Given the description of an element on the screen output the (x, y) to click on. 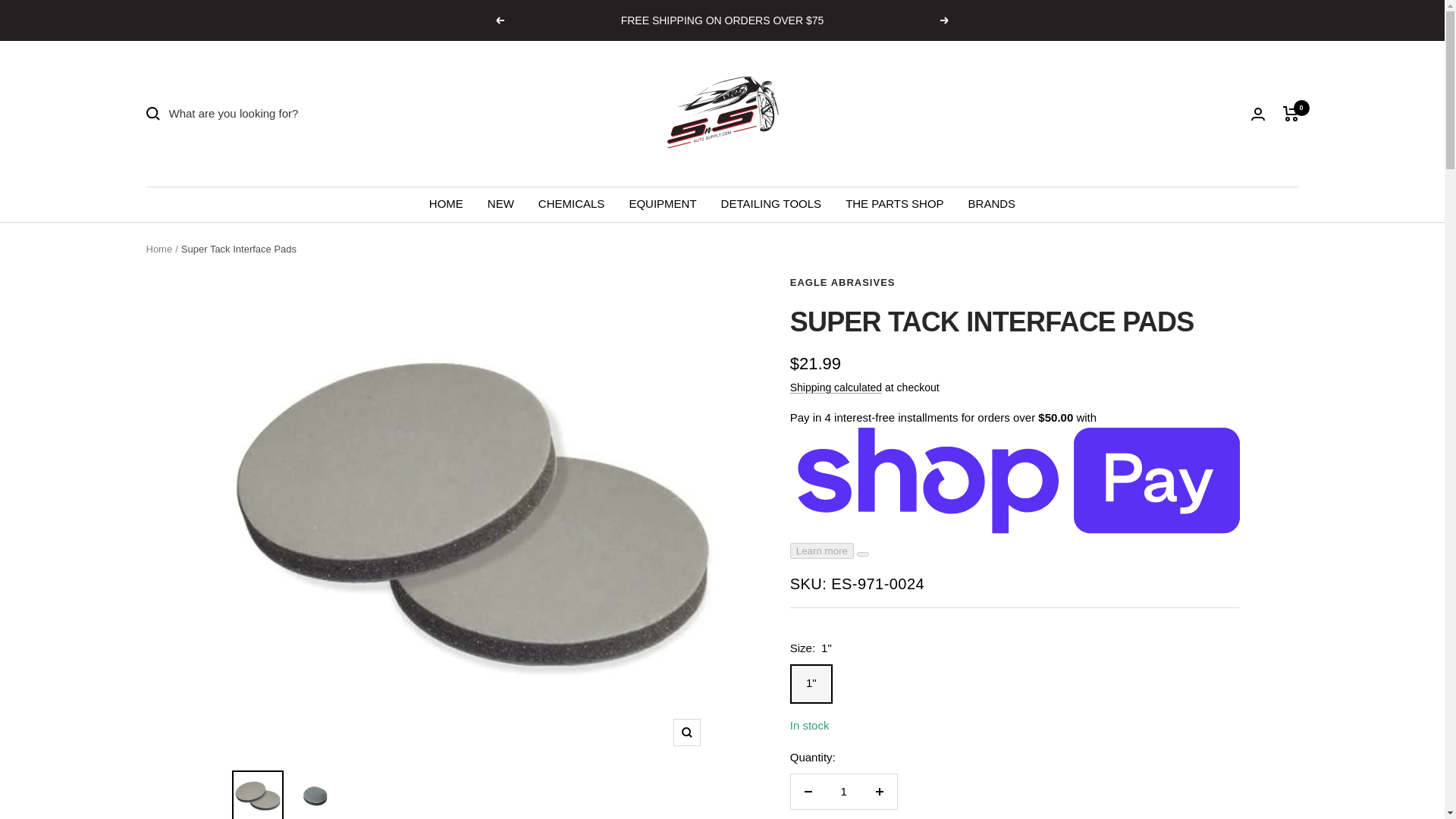
NEW (500, 203)
Shipping calculated (836, 387)
THE PARTS SHOP (894, 203)
1 (843, 791)
SNS Auto Supply (721, 113)
HOME (446, 203)
CHEMICALS (571, 203)
Increase quantity (878, 791)
Home (158, 248)
Previous (499, 20)
